Given the description of an element on the screen output the (x, y) to click on. 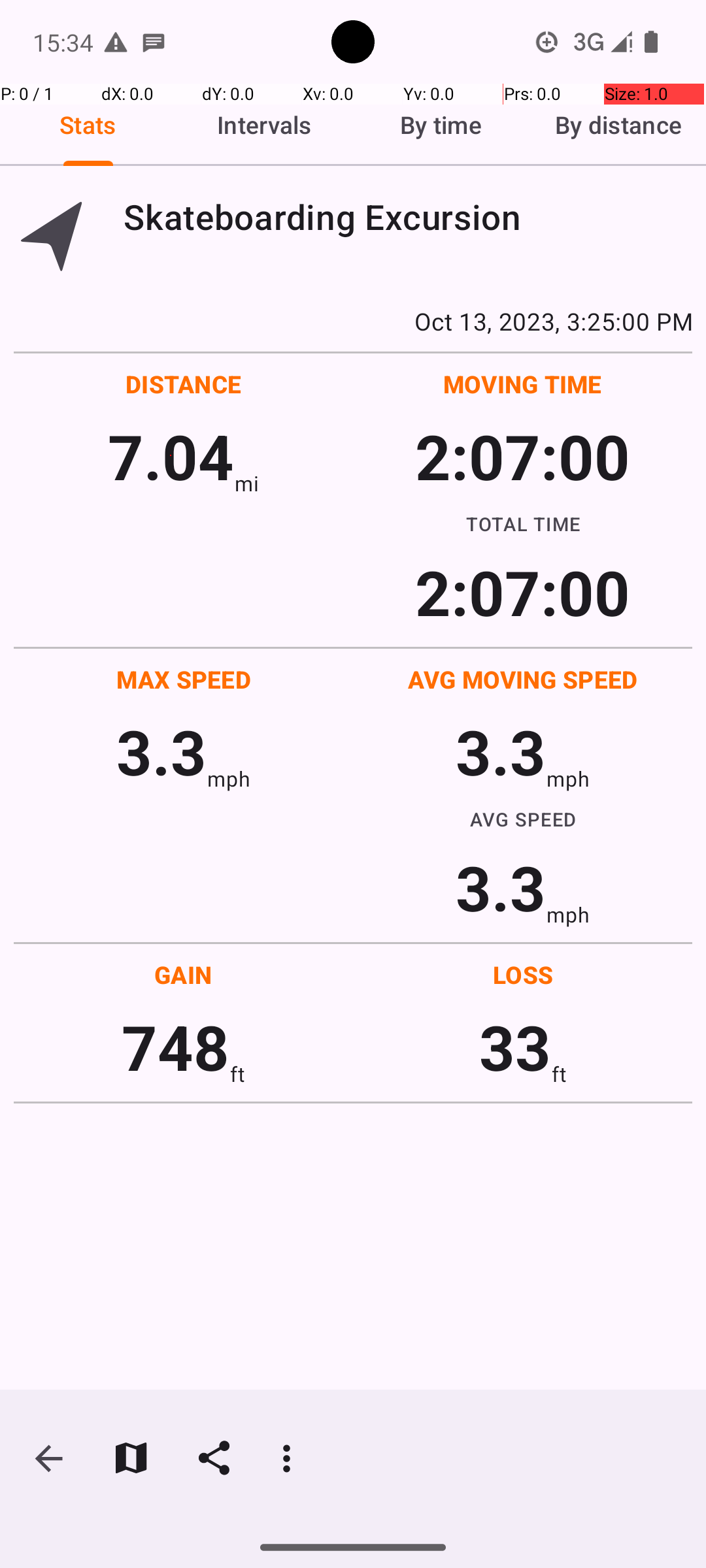
Stats Element type: android.widget.LinearLayout (88, 124)
Intervals Element type: android.widget.LinearLayout (264, 124)
By time Element type: android.widget.LinearLayout (441, 124)
By distance Element type: android.widget.LinearLayout (617, 124)
Show on map Element type: android.widget.Button (130, 1458)
Skateboarding Excursion Element type: android.widget.TextView (407, 216)
Oct 13, 2023, 3:25:00 PM Element type: android.widget.TextView (352, 320)
DISTANCE Element type: android.widget.TextView (183, 383)
MOVING TIME Element type: android.widget.TextView (522, 383)
7.04 Element type: android.widget.TextView (170, 455)
mi Element type: android.widget.TextView (246, 483)
2:07:00 Element type: android.widget.TextView (522, 455)
TOTAL TIME Element type: android.widget.TextView (522, 523)
MAX SPEED Element type: android.widget.TextView (183, 678)
AVG MOVING SPEED Element type: android.widget.TextView (522, 678)
3.3 Element type: android.widget.TextView (161, 750)
mph Element type: android.widget.TextView (228, 778)
AVG SPEED Element type: android.widget.TextView (522, 818)
GAIN Element type: android.widget.TextView (183, 974)
LOSS Element type: android.widget.TextView (522, 974)
748 Element type: android.widget.TextView (175, 1045)
ft Element type: android.widget.TextView (237, 1073)
33 Element type: android.widget.TextView (515, 1045)
